Given the description of an element on the screen output the (x, y) to click on. 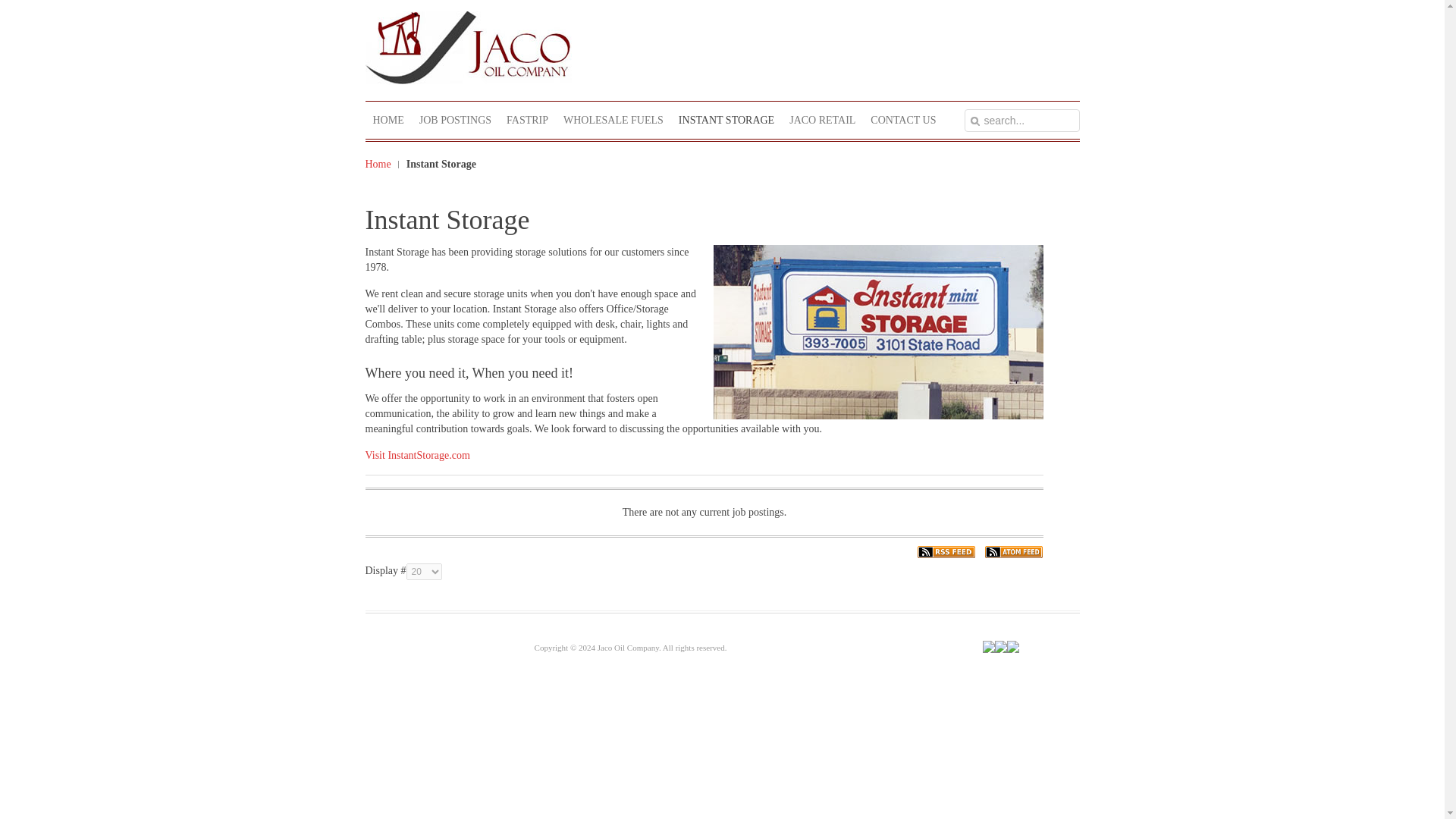
Visit InstantStorage.com (417, 455)
JACO RETAIL (822, 119)
JOB POSTINGS (455, 119)
WHOLESALE FUELS (613, 119)
Home (381, 164)
Reset (3, 2)
HOME (388, 119)
INSTANT STORAGE (726, 119)
CONTACT US (903, 119)
FASTRIP (527, 119)
